Given the description of an element on the screen output the (x, y) to click on. 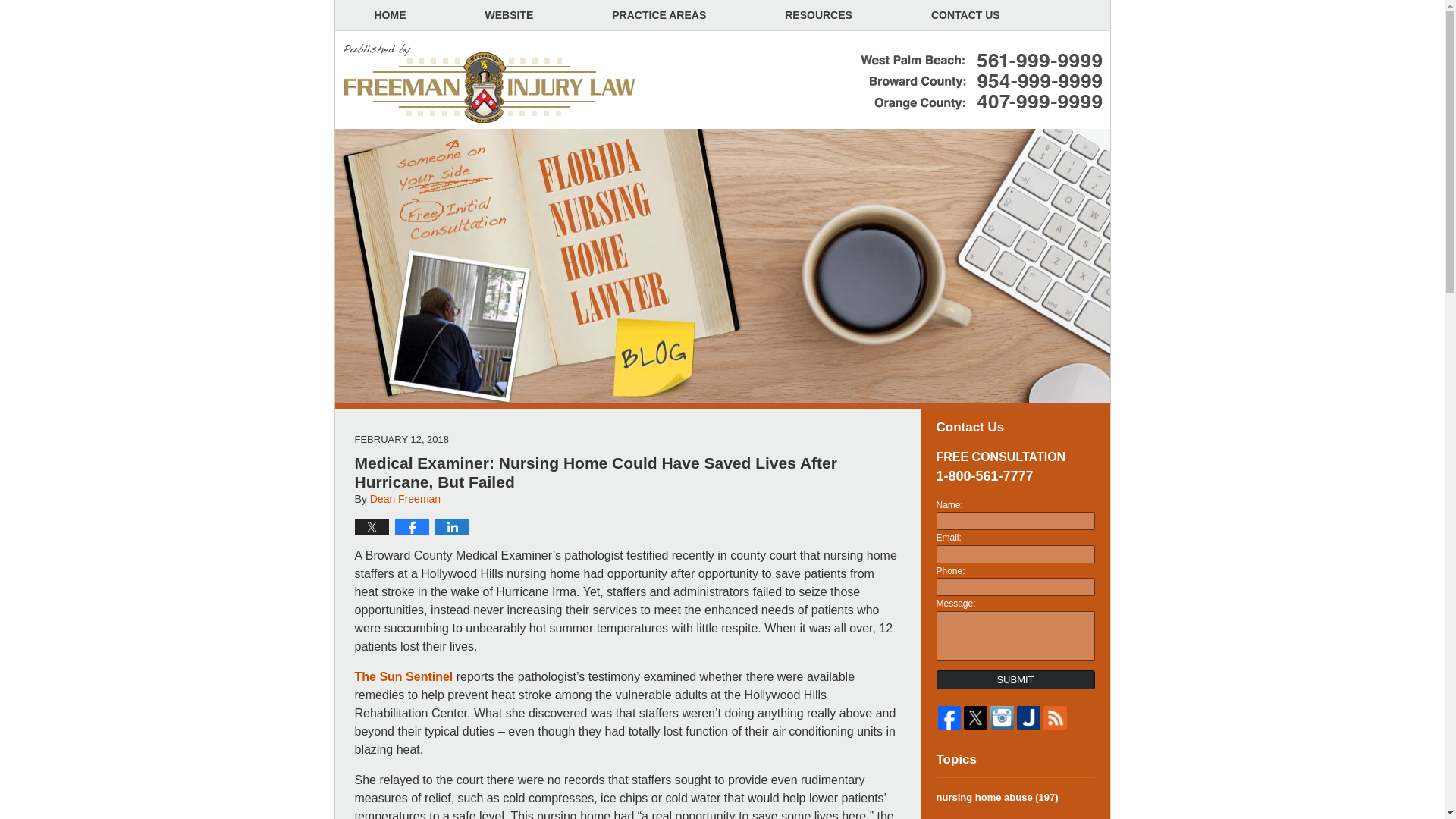
Facebook (949, 717)
Florida Nursing Home Lawyer Blog (489, 84)
Instagram (1001, 717)
Twitter (975, 717)
Instagram (1001, 717)
The Sun Sentinel (403, 676)
PRACTICE AREAS (658, 15)
Dean Freeman (405, 499)
Justia (1028, 717)
Please enter a valid phone number. (1015, 587)
CONTACT US (965, 15)
RESOURCES (818, 15)
Facebook (948, 717)
Published By Freeman Injury Law (981, 81)
Twitter (975, 717)
